Given the description of an element on the screen output the (x, y) to click on. 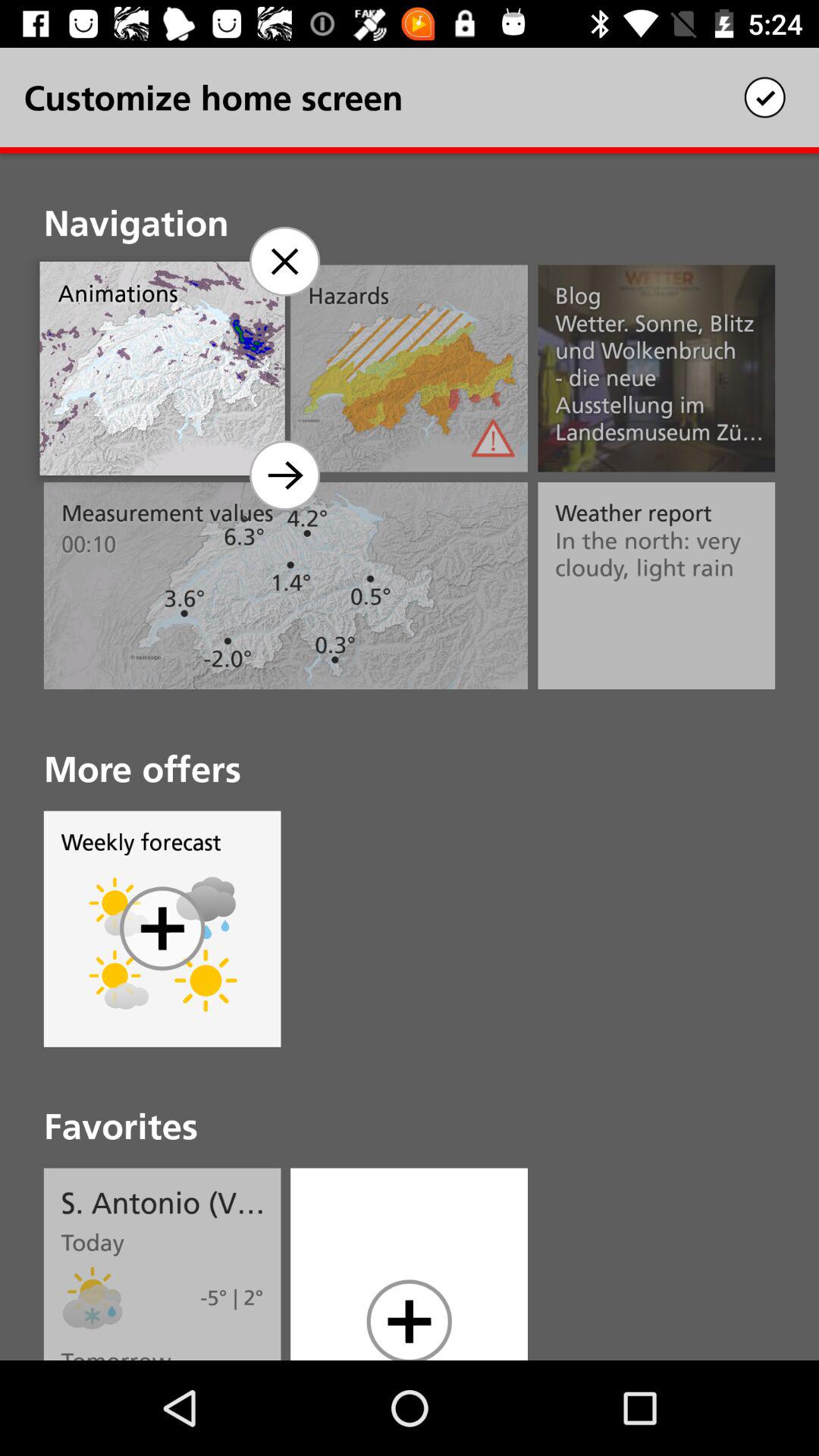
remove navigation from home screen (284, 261)
